Given the description of an element on the screen output the (x, y) to click on. 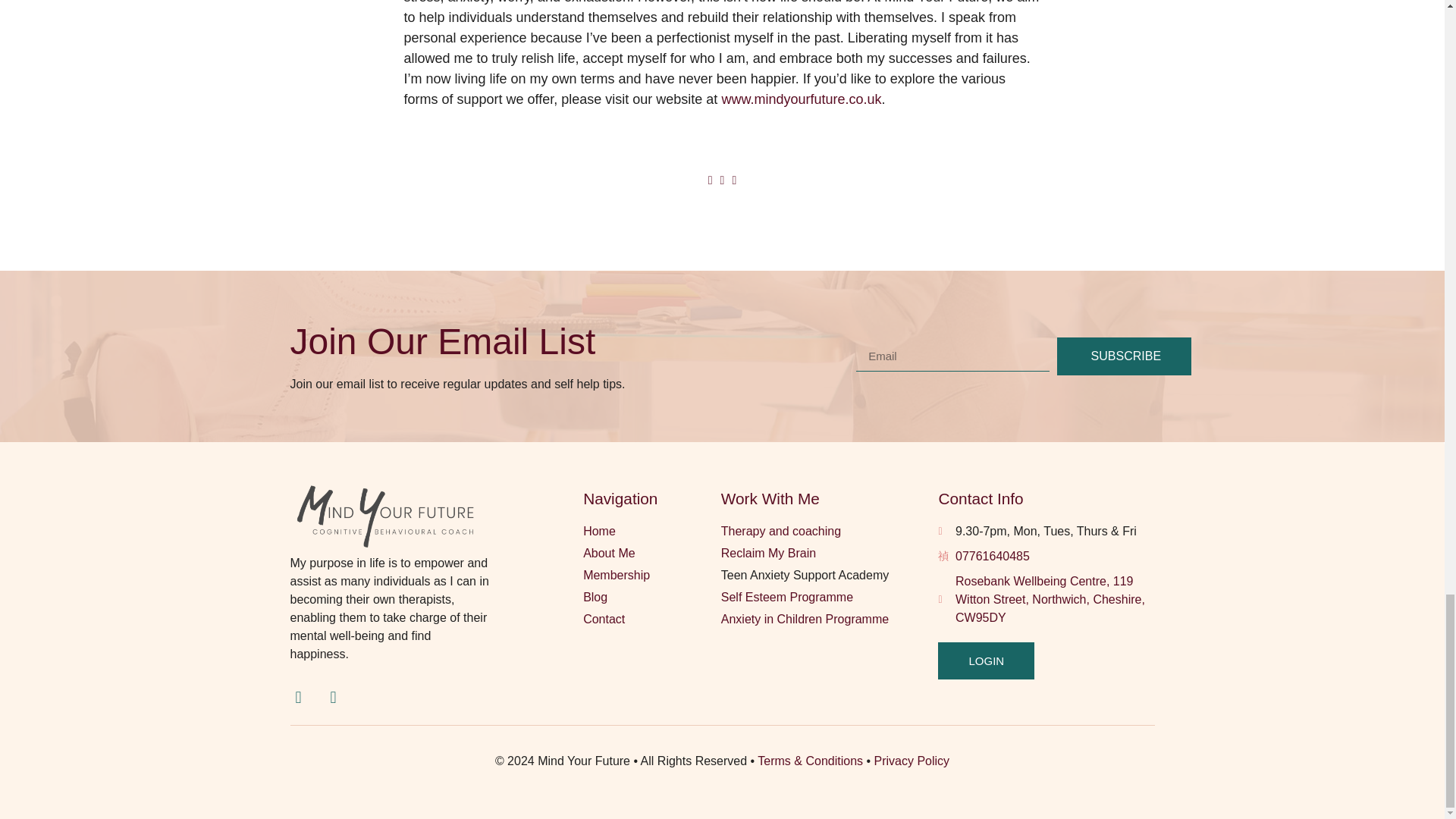
Self Esteem Programme (828, 597)
Reclaim My Brain (828, 553)
Blog (651, 597)
Anxiety in Children Programme (828, 619)
Home (651, 531)
Membership (651, 575)
Contact (651, 619)
About Me (651, 553)
www.mindyourfuture.co.uk (798, 99)
Therapy and coaching (828, 531)
